Given the description of an element on the screen output the (x, y) to click on. 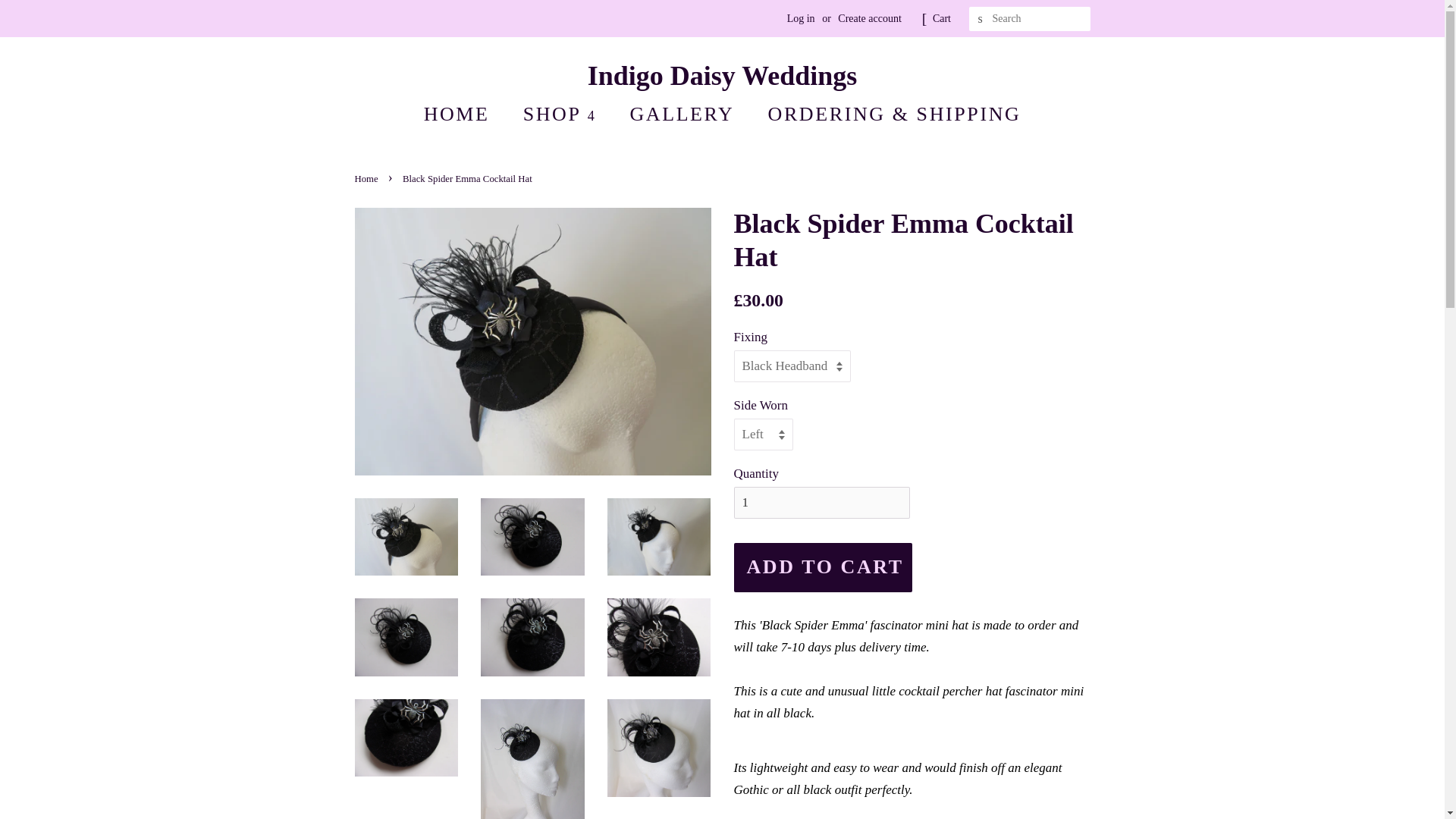
Back to the frontpage (368, 178)
1 (821, 502)
Log in (801, 18)
Create account (869, 18)
SEARCH (980, 18)
Cart (941, 18)
